Given the description of an element on the screen output the (x, y) to click on. 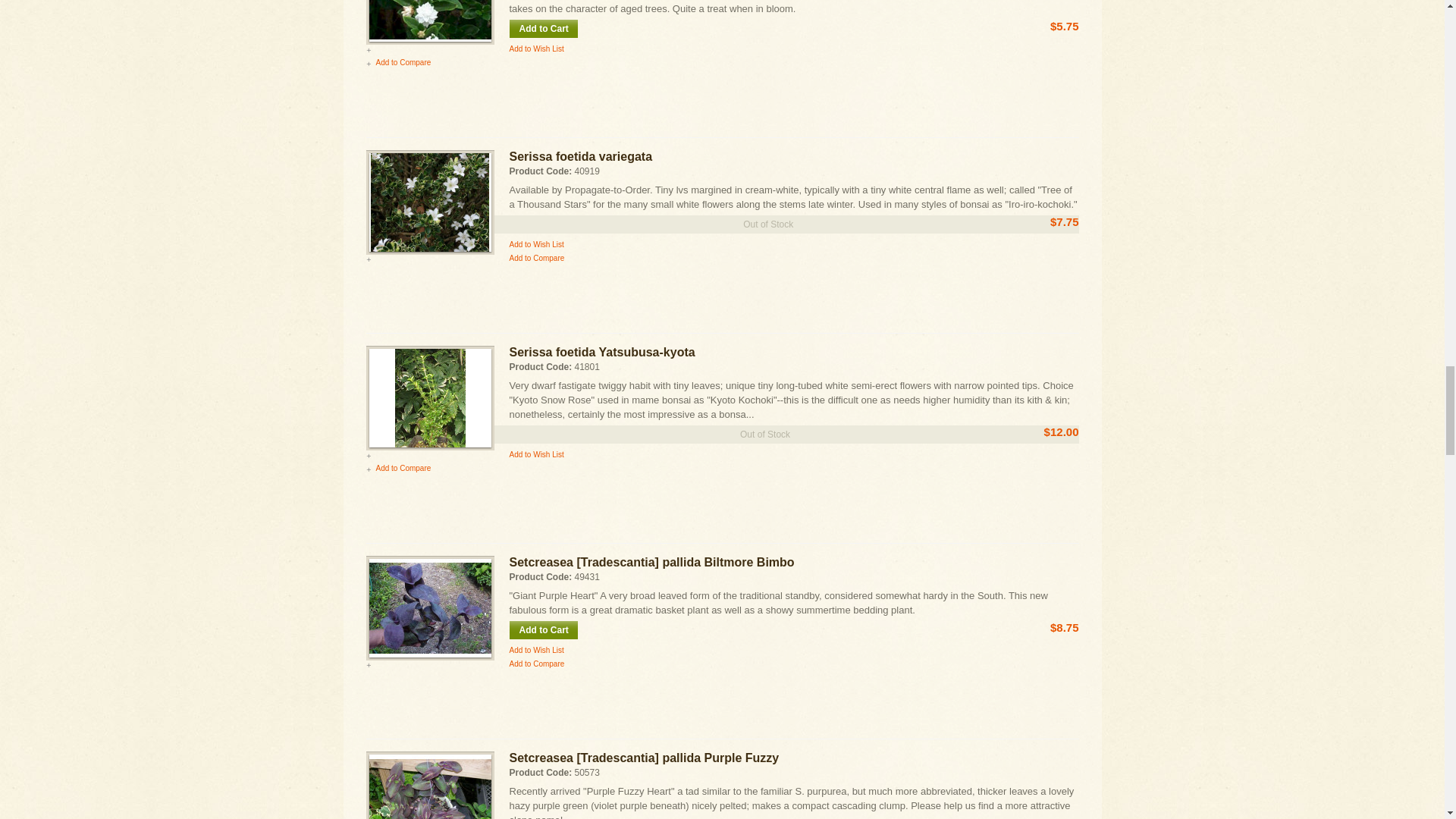
Serissa foetida Yatsubusa-kyota (429, 397)
Serissa foetida variegata (429, 202)
Serissa foetida flora plena (429, 20)
